Given the description of an element on the screen output the (x, y) to click on. 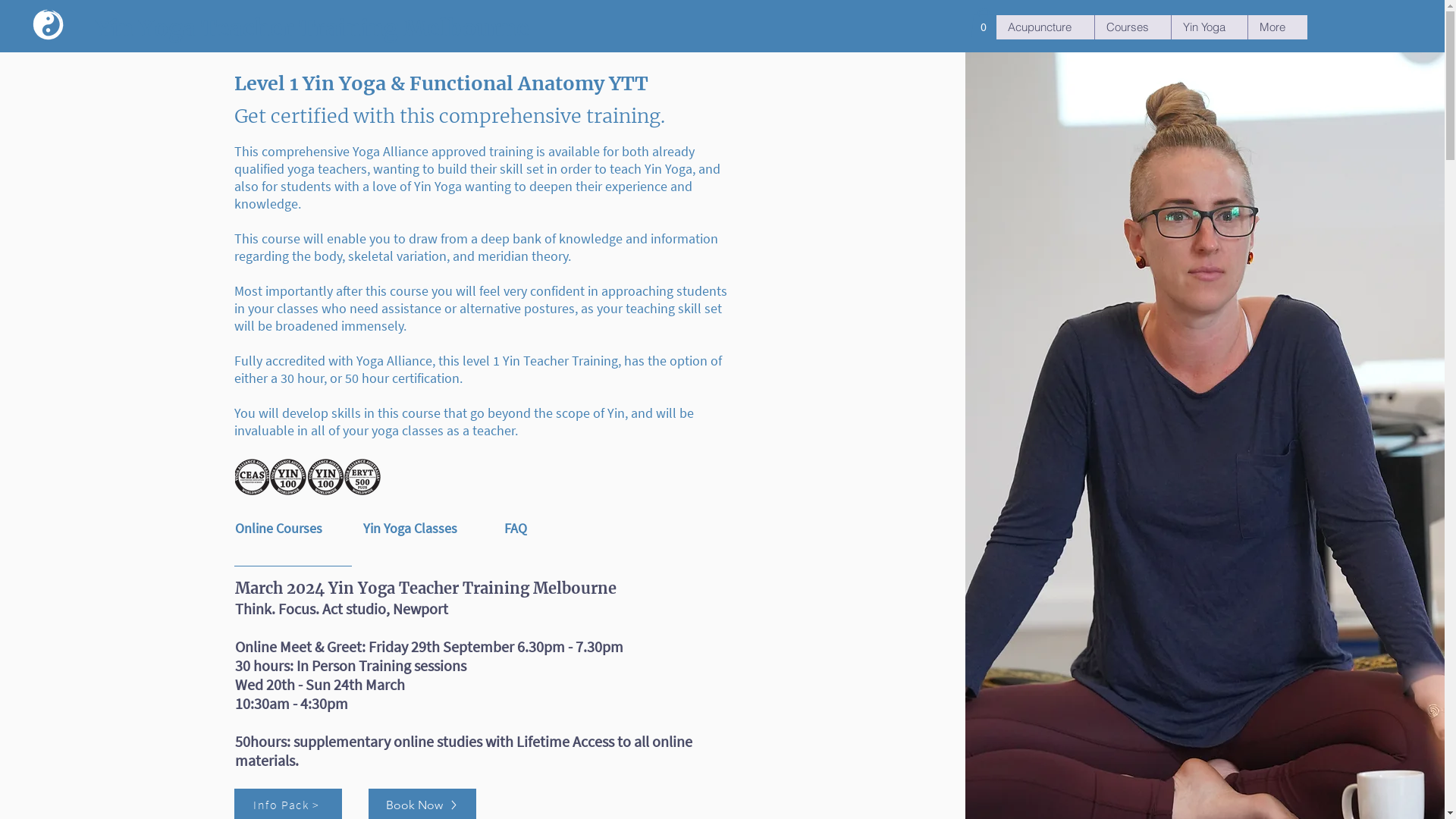
0 Element type: text (983, 23)
Yin Yoga Teacher Training Melbourne Element type: text (312, 27)
Online Courses Element type: text (293, 528)
Yin Yoga Classes Element type: text (422, 528)
FAQ Element type: text (562, 528)
Acupuncture Element type: text (1045, 27)
Yin Yoga Element type: text (1208, 27)
